Given the description of an element on the screen output the (x, y) to click on. 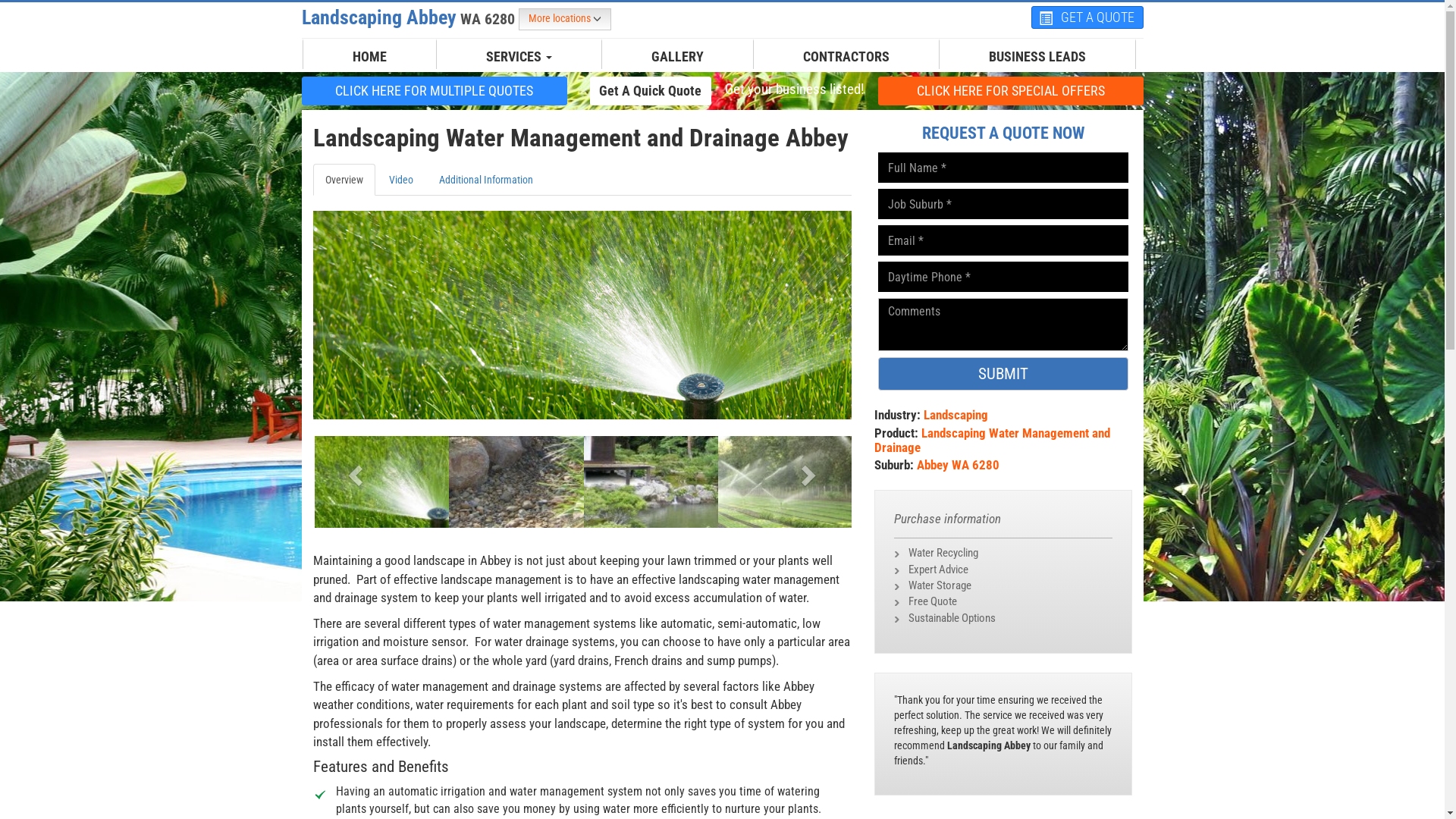
More locations Element type: text (564, 19)
prev Element type: hover (352, 470)
HOME Element type: text (369, 56)
BUSINESS LEADS Element type: text (1036, 56)
Get your business listed! Element type: text (793, 89)
CLICK HERE FOR MULTIPLE QUOTES Element type: text (434, 90)
CLICK HERE FOR SPECIAL OFFERS Element type: text (1010, 90)
CLICK HERE FOR MULTIPLE QUOTES Element type: text (434, 90)
SUBMIT Element type: text (1003, 373)
Landscaping Abbey WA 6280 Element type: text (409, 17)
SERVICES Element type: text (518, 56)
GET A QUOTE Element type: text (1087, 17)
Overview Element type: text (343, 179)
GALLERY Element type: text (677, 56)
Get A Quick Quote Element type: text (650, 90)
Get A Quick Quote Element type: text (650, 90)
CLICK HERE FOR SPECIAL OFFERS Element type: text (1010, 90)
Additional Information Element type: text (485, 179)
Video Element type: text (400, 179)
CONTRACTORS Element type: text (845, 56)
